Given the description of an element on the screen output the (x, y) to click on. 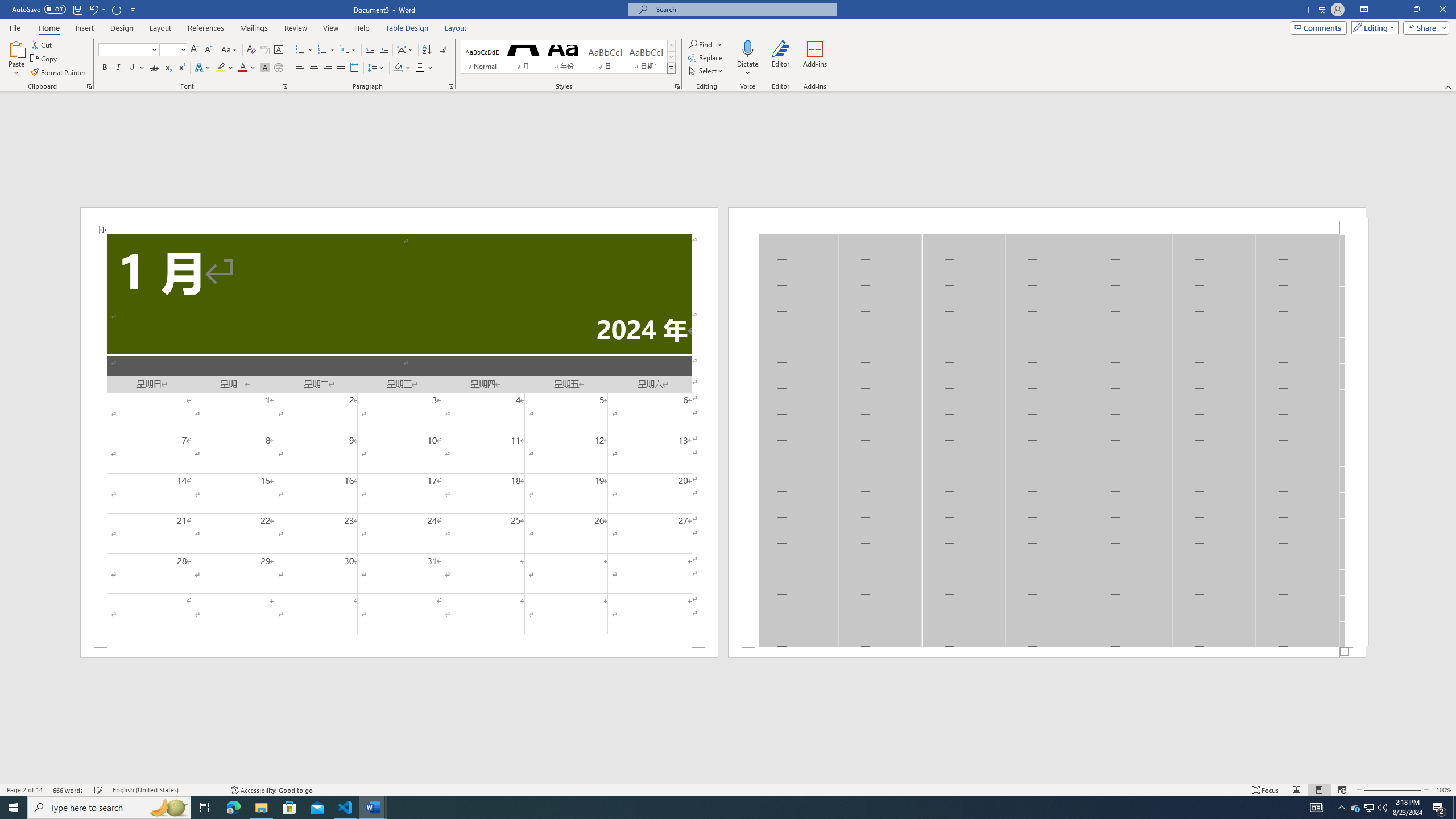
Font Color RGB(255, 0, 0) (241, 67)
